Given the description of an element on the screen output the (x, y) to click on. 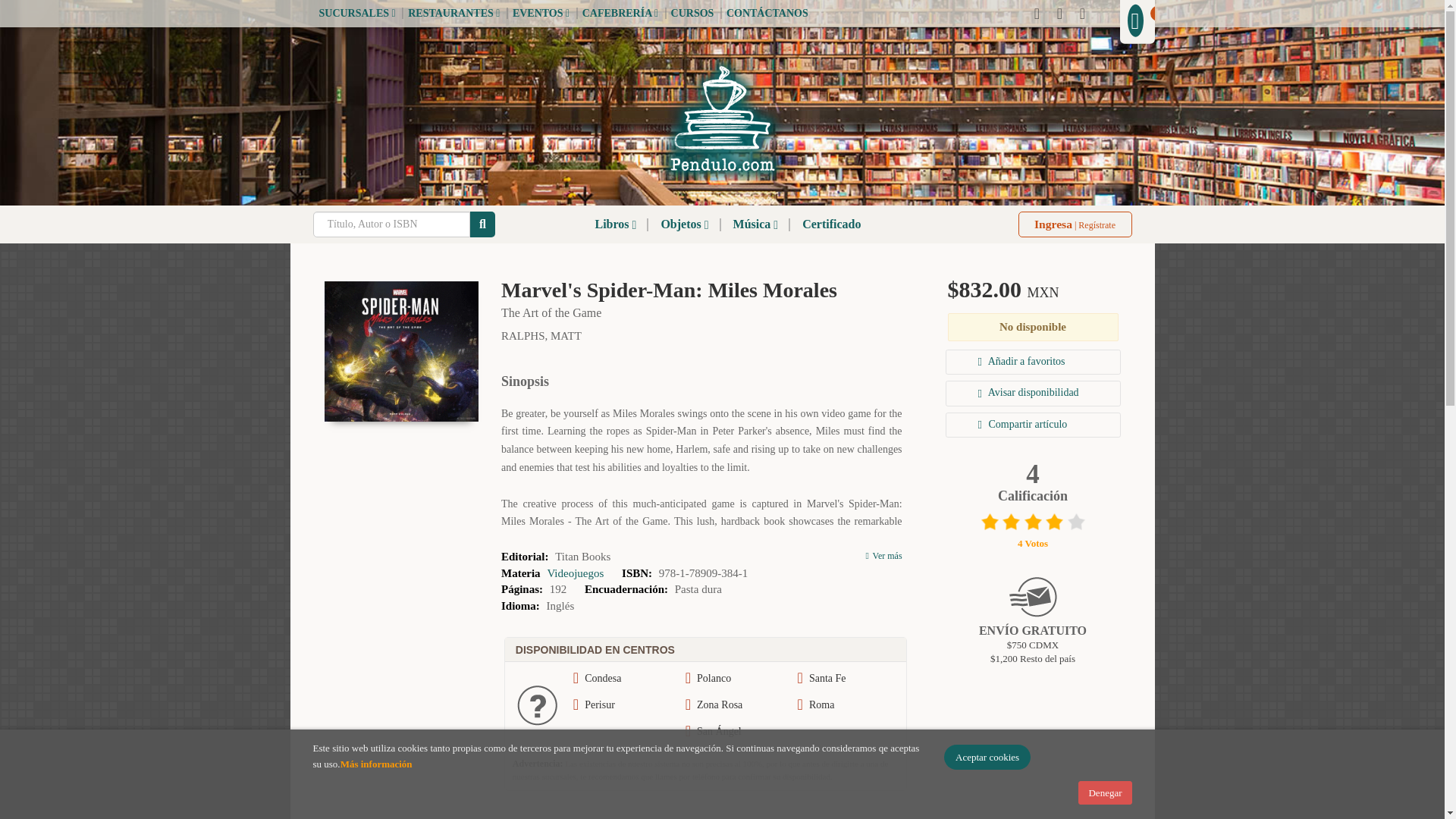
CURSOS (691, 12)
SUCURSALES (355, 12)
0 (1136, 20)
RESTAURANTES (452, 12)
EVENTOS (539, 12)
Libros (614, 224)
